Given the description of an element on the screen output the (x, y) to click on. 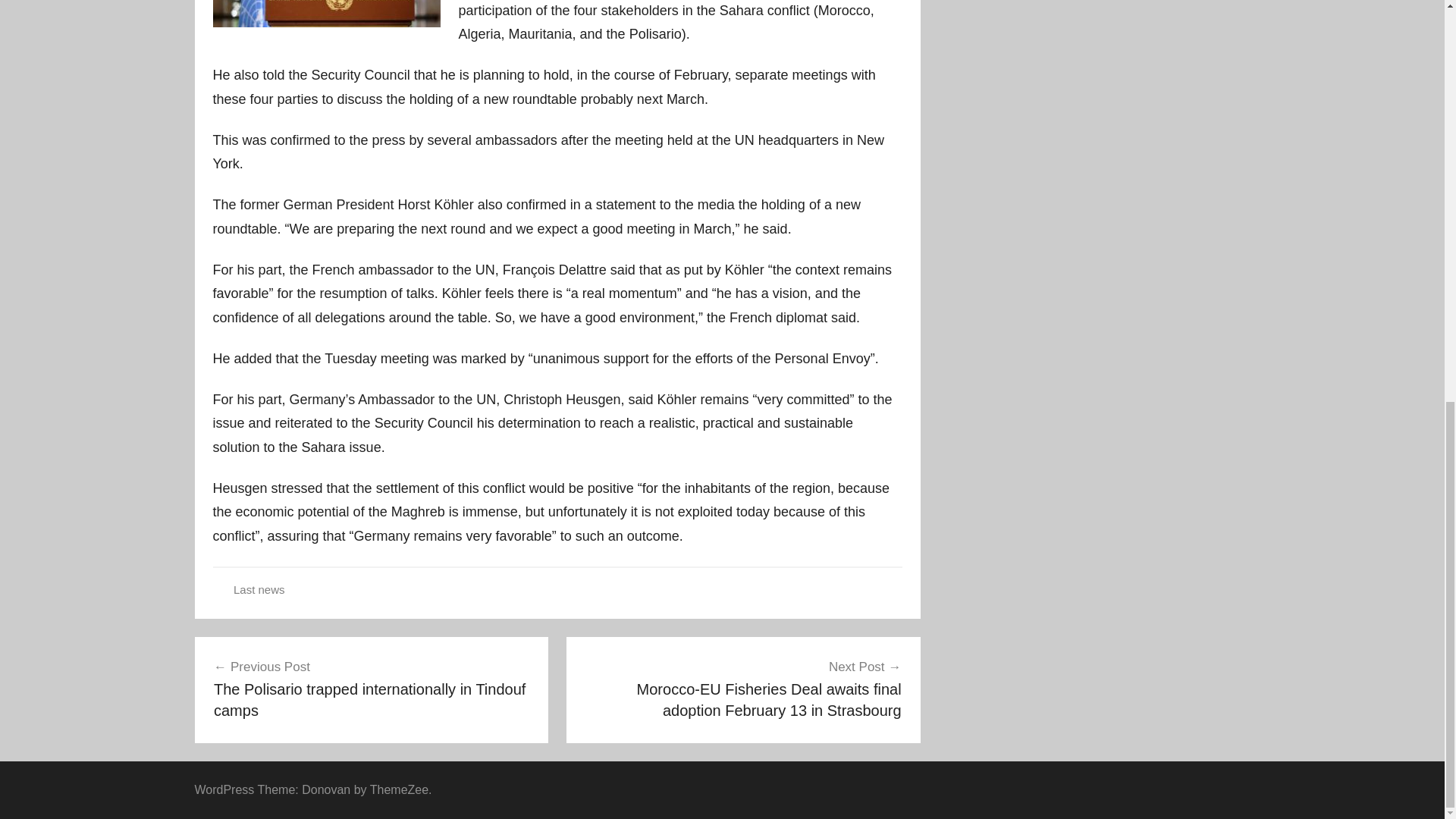
Last news (258, 589)
